Given the description of an element on the screen output the (x, y) to click on. 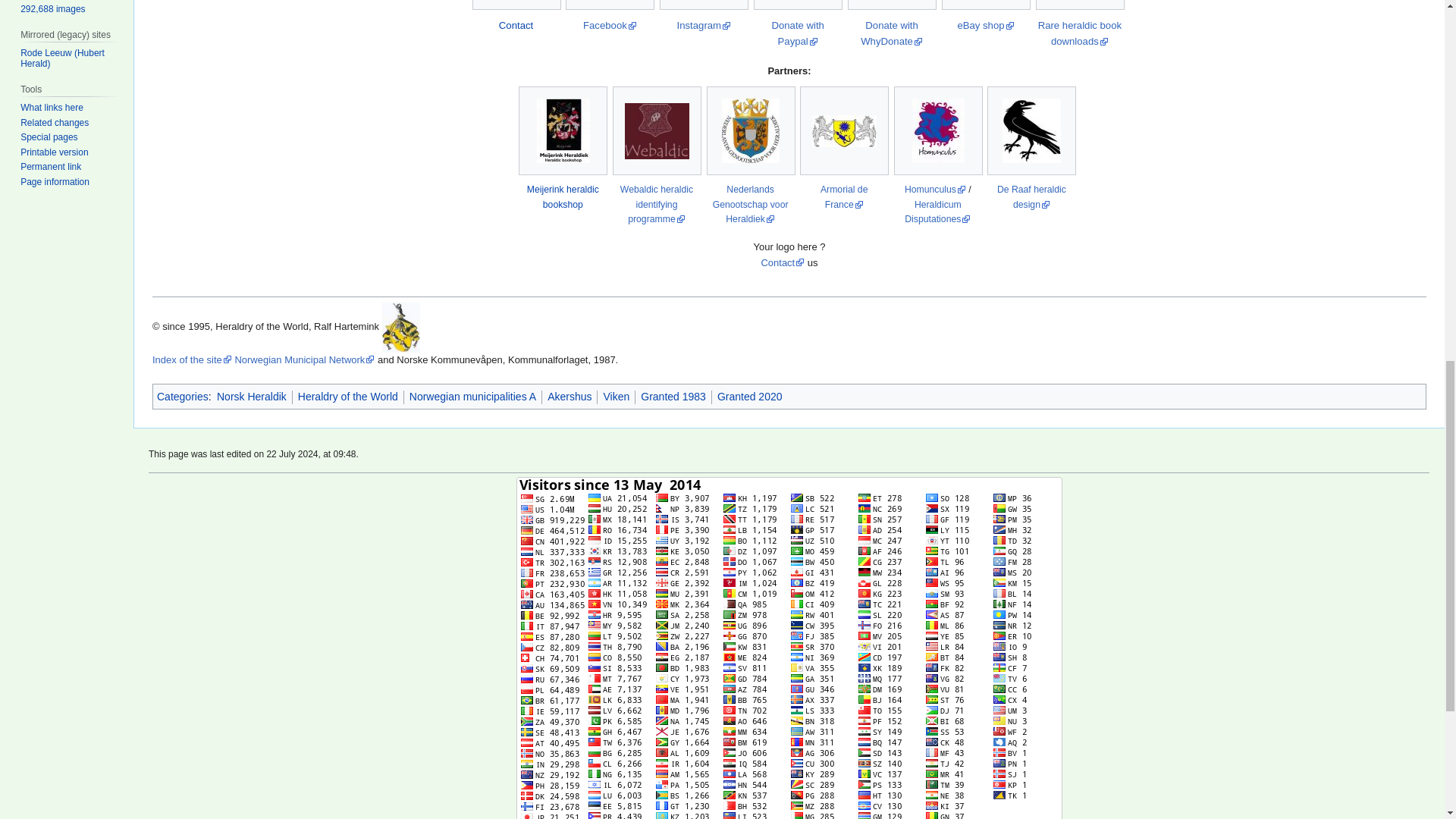
Rare heraldic book downloads (1079, 32)
Donate with Paypal (797, 32)
Donate with WhyDonate (891, 32)
Facebook (610, 25)
Meijerink heraldic bookshop (562, 196)
Instagram (704, 25)
eBay shop (984, 25)
Meijerink Heraldiek (562, 196)
Contact (515, 25)
Webaldic heraldic identifying programme (656, 204)
